Given the description of an element on the screen output the (x, y) to click on. 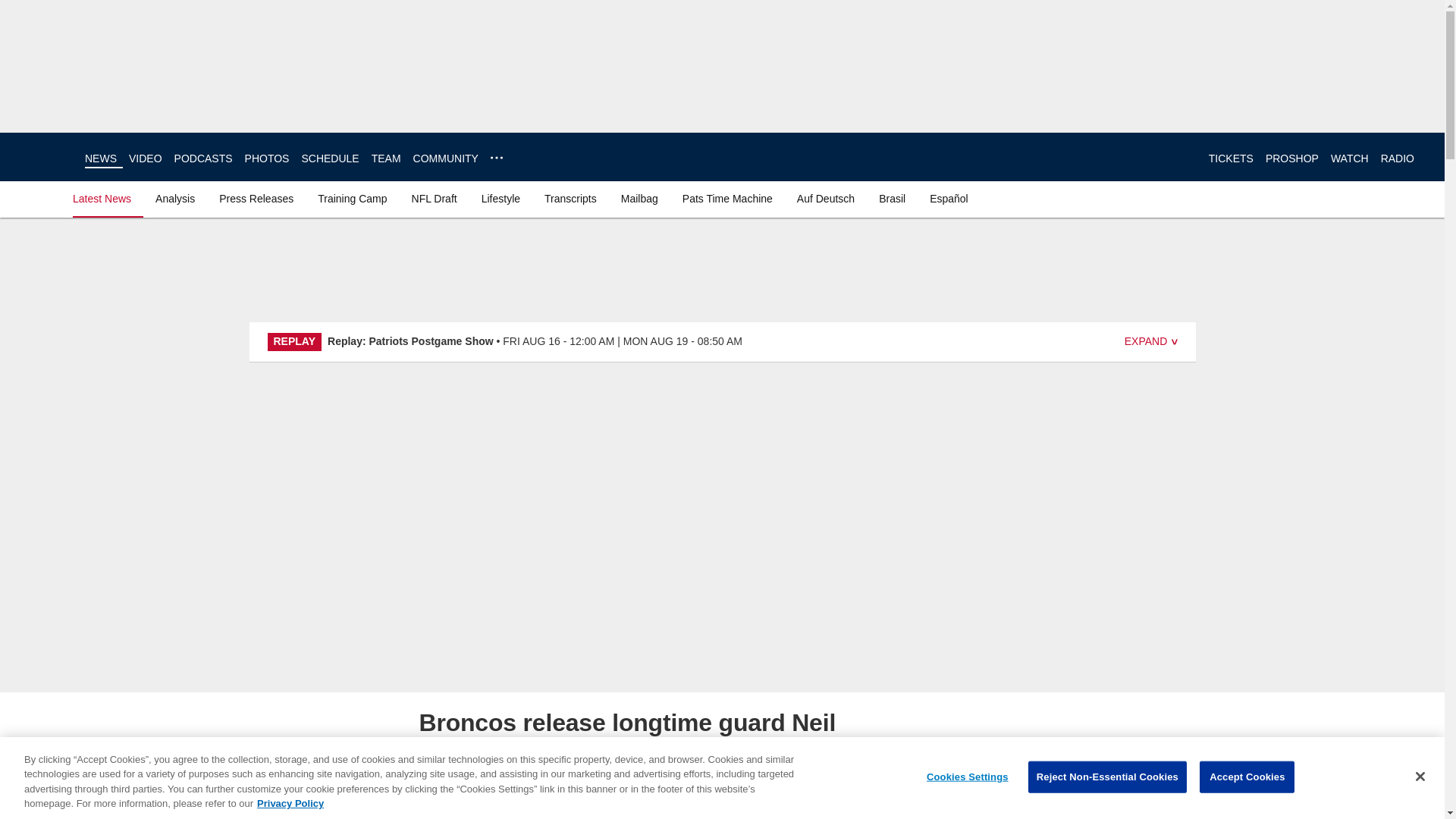
RADIO (1396, 158)
EXPAND (1150, 341)
Auf Deutsch (825, 198)
TICKETS (1230, 158)
VIDEO (145, 158)
TEAM (386, 158)
NFL Draft (434, 198)
COMMUNITY (446, 158)
PROSHOP (1292, 158)
Transcripts (570, 198)
